Given the description of an element on the screen output the (x, y) to click on. 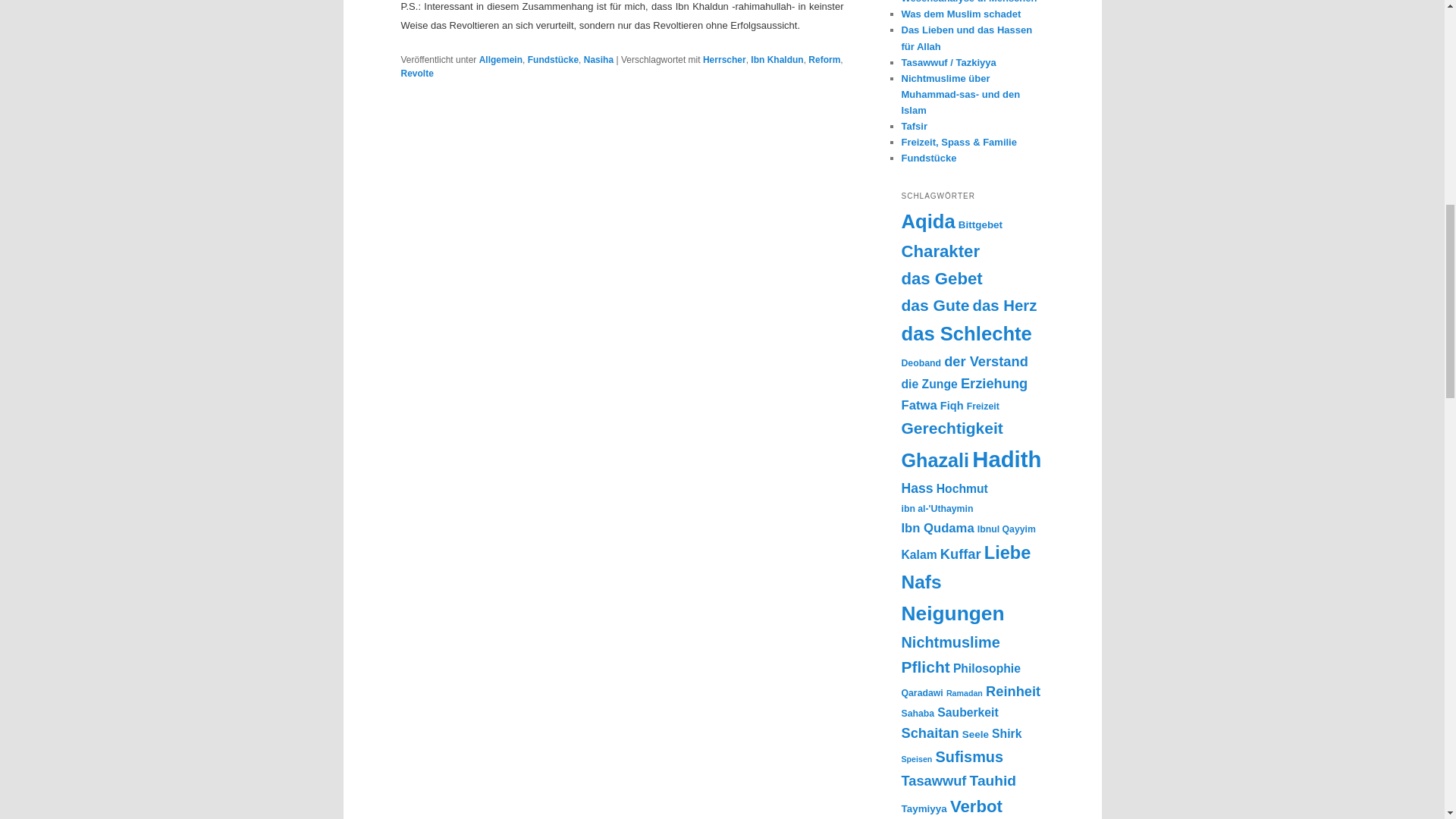
Reform (824, 59)
Wesensanalyse d. Menschen (968, 2)
Allgemein (500, 59)
Tafsir (913, 125)
Herrscher (724, 59)
Was dem Muslim schadet (960, 13)
Bittgebet (980, 224)
Aqida (928, 220)
Revolte (416, 72)
Nasiha (597, 59)
Ibn Khaldun (777, 59)
